Given the description of an element on the screen output the (x, y) to click on. 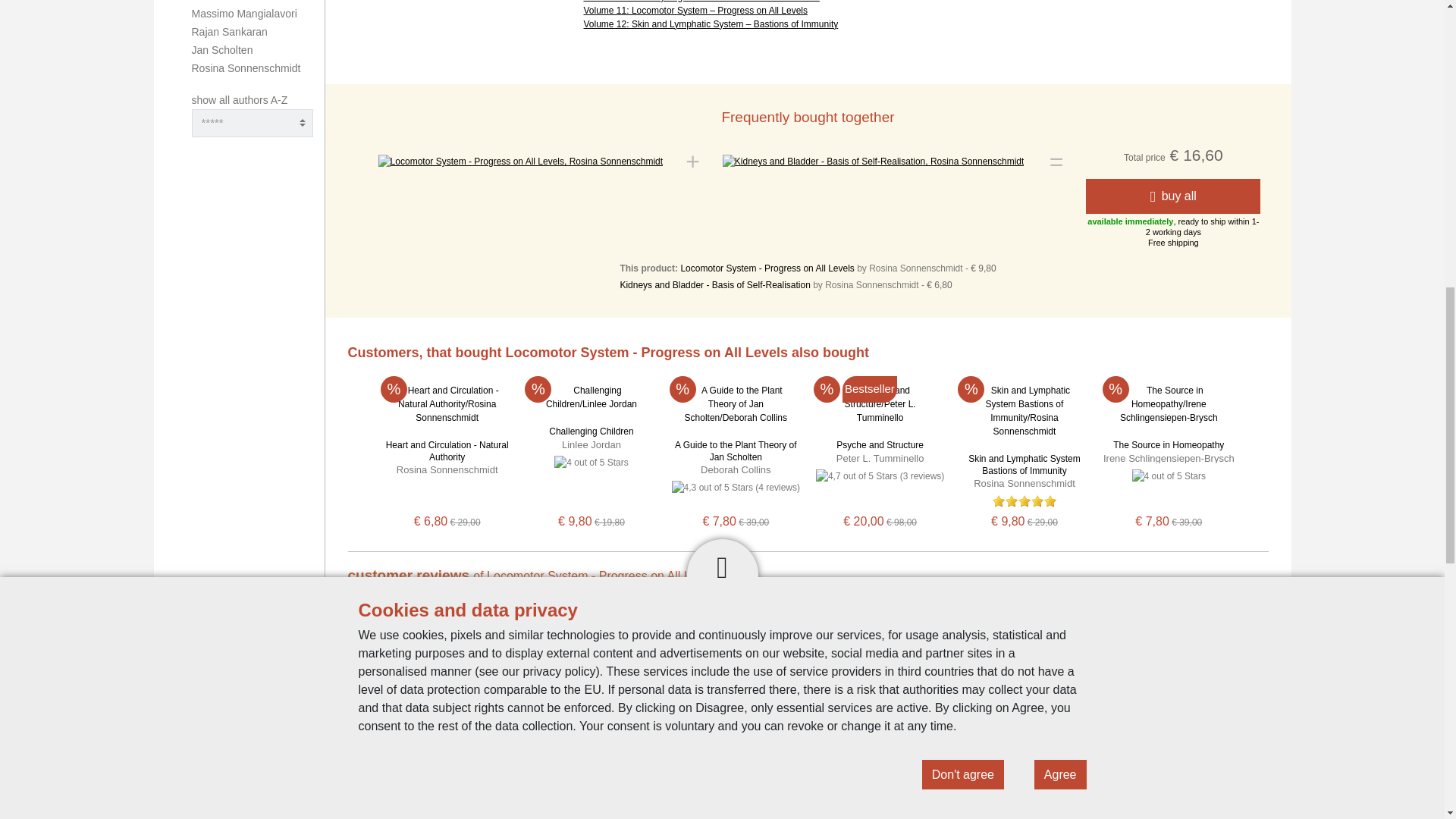
Jan Scholten (220, 50)
4 out of 5 Stars (590, 462)
Rajan Sankaran (228, 31)
Rosina Sonnenschmidt (446, 469)
Massimo Mangialavori (243, 13)
Linlee  Jordan (591, 444)
Rosina Sonnenschmidt (244, 68)
